Given the description of an element on the screen output the (x, y) to click on. 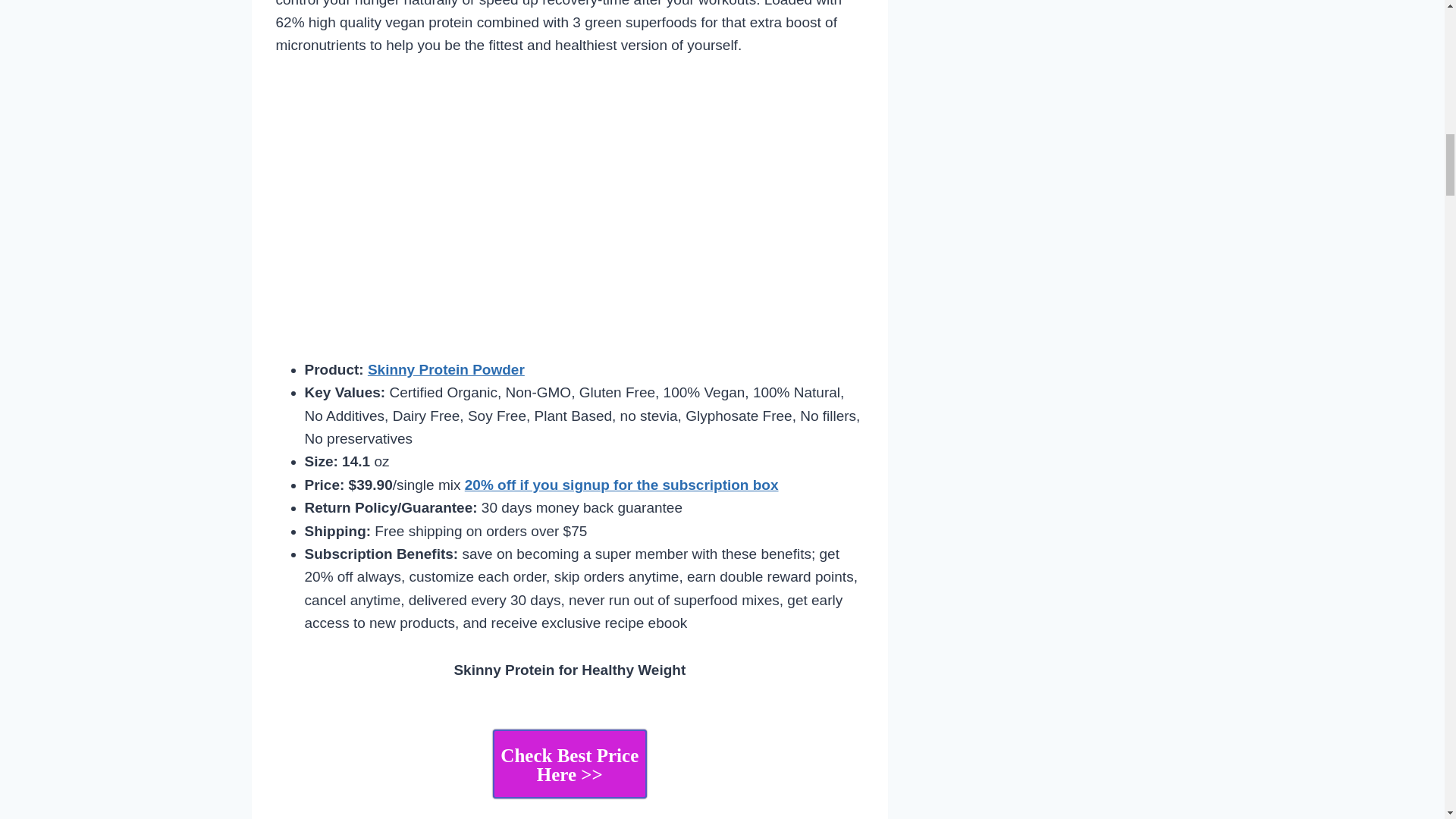
Skinny Protein Powder (446, 369)
